Given the description of an element on the screen output the (x, y) to click on. 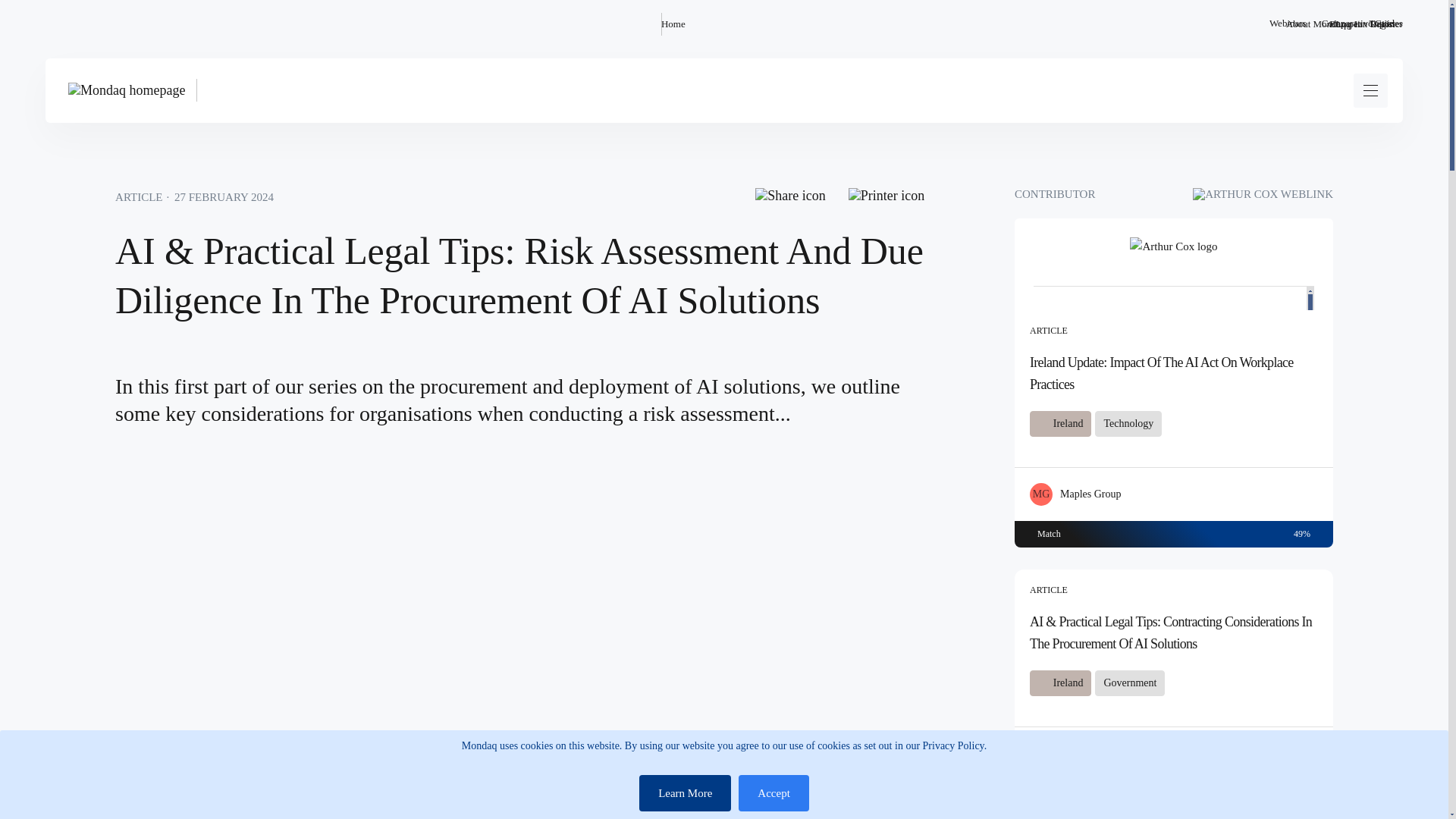
Comparative Guides (1362, 23)
Webinars (1287, 23)
Home (673, 24)
About Mondaq (1315, 24)
